Given the description of an element on the screen output the (x, y) to click on. 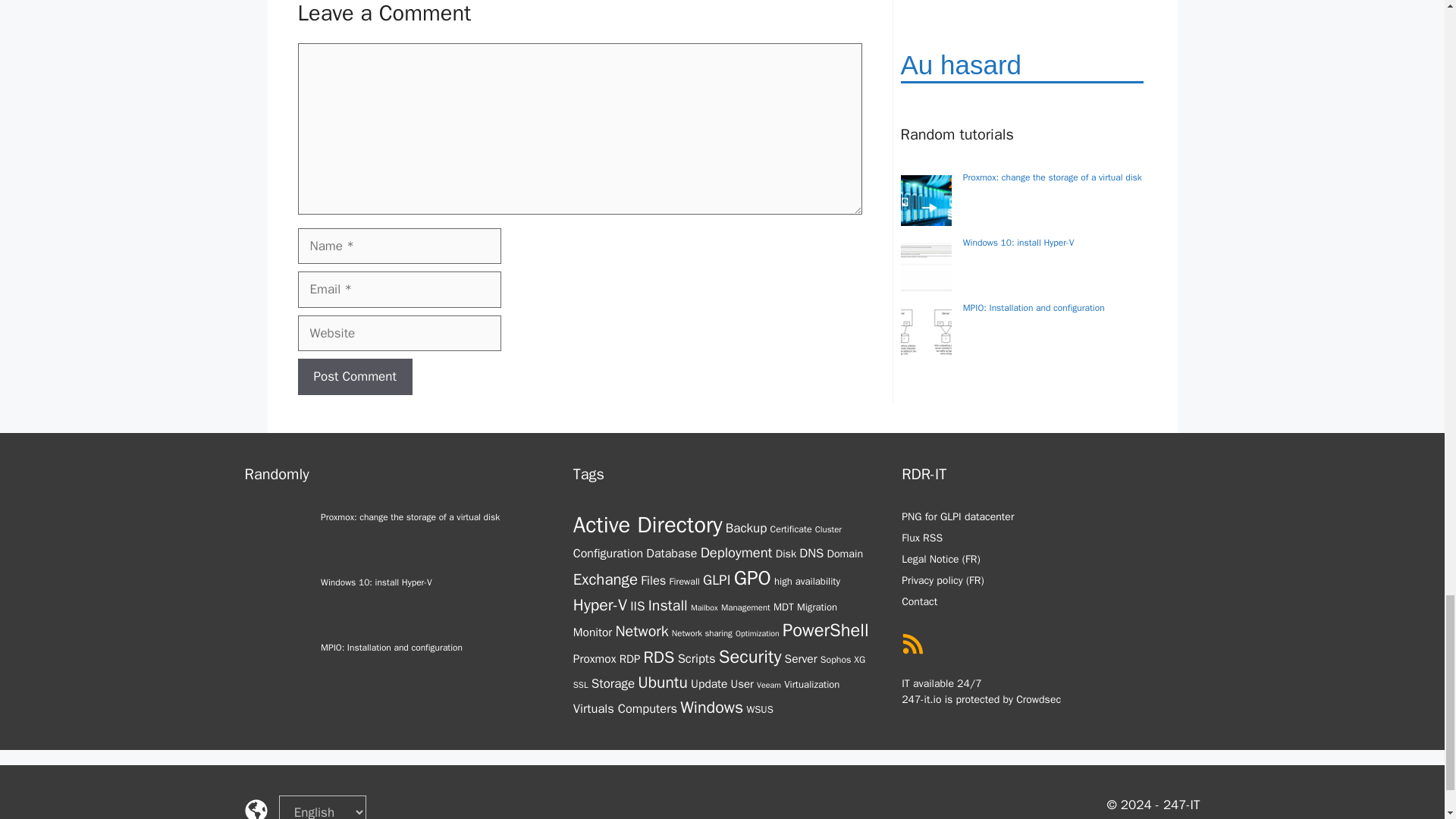
Post Comment (354, 376)
